Given the description of an element on the screen output the (x, y) to click on. 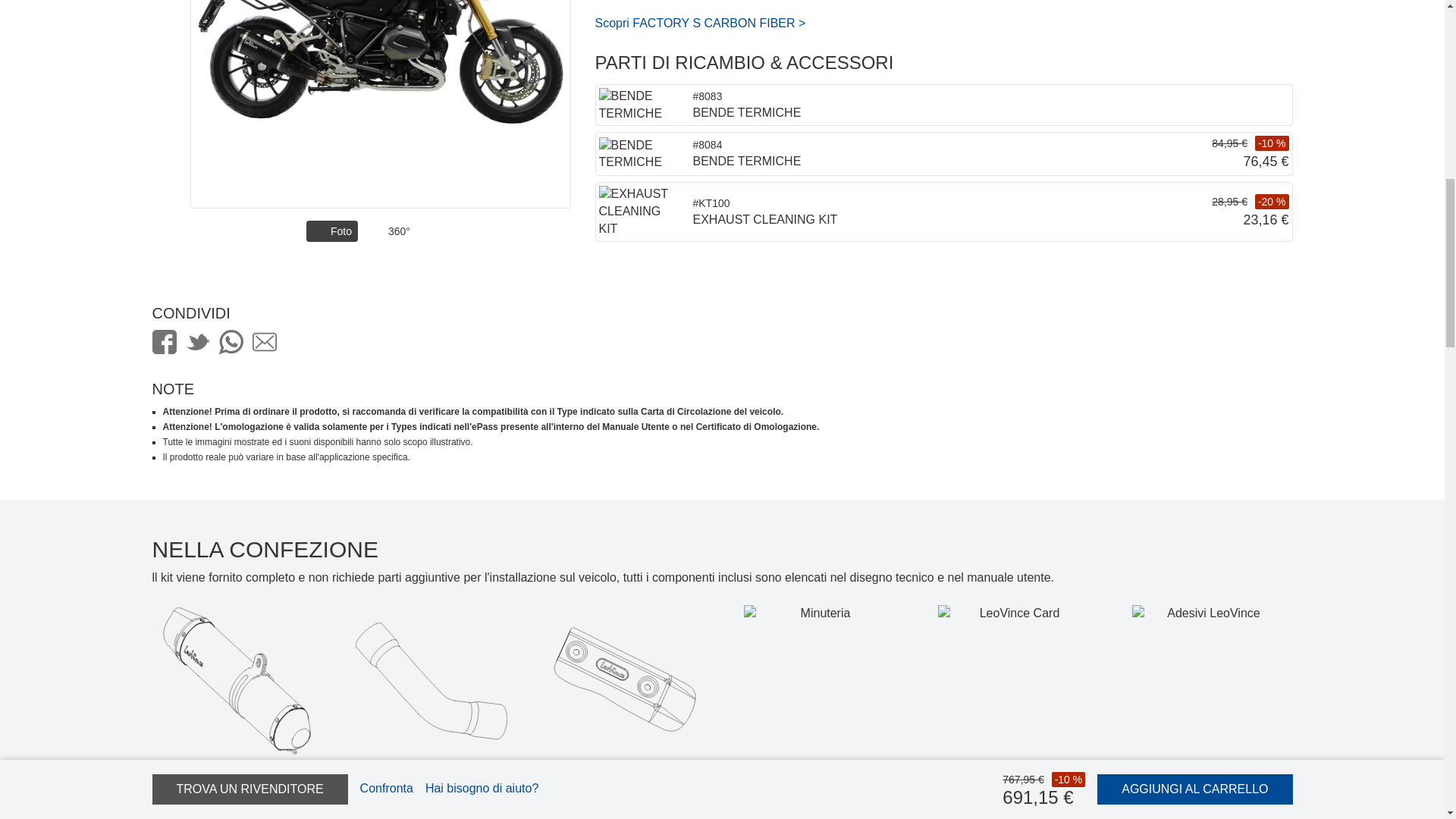
LeoVince Card (1013, 680)
Silenziatore LeoVince (236, 680)
Scarico Bmw R 1200 R 2015 - 2016: Exhaust Cleaning Kit (636, 211)
Scarico Bmw R 1200 R 2015 - 2016: Bende Termiche (636, 104)
Minuteria (818, 680)
Collettore (430, 680)
Carter in fibra di carbonio (624, 680)
Adesivi LeoVince (1206, 680)
Scarico Bmw R 1200 R 2015 - 2016: Bende Termiche (636, 154)
